Given the description of an element on the screen output the (x, y) to click on. 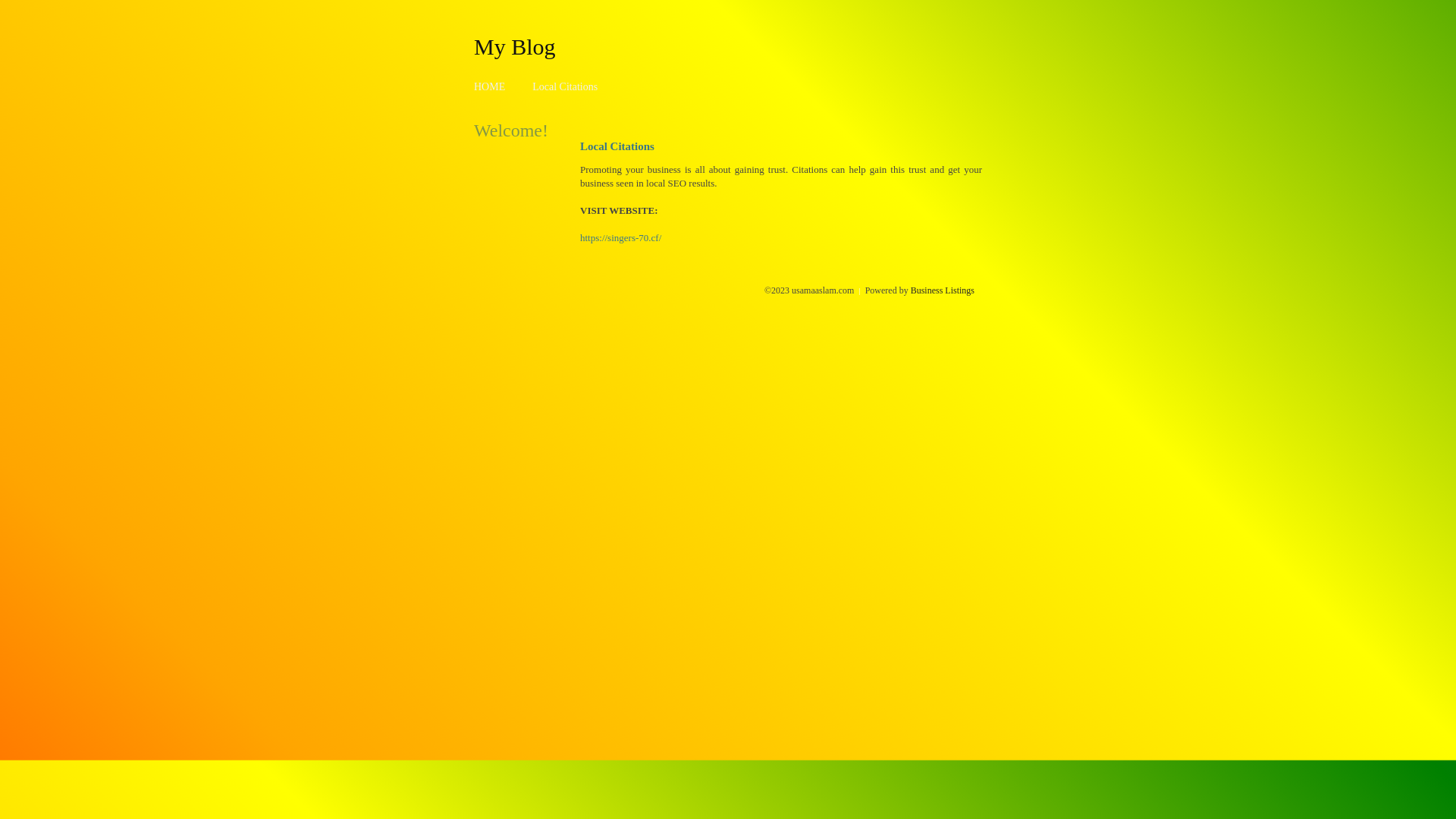
https://singers-70.cf/ Element type: text (620, 237)
Local Citations Element type: text (564, 86)
Business Listings Element type: text (942, 290)
HOME Element type: text (489, 86)
My Blog Element type: text (514, 46)
